Given the description of an element on the screen output the (x, y) to click on. 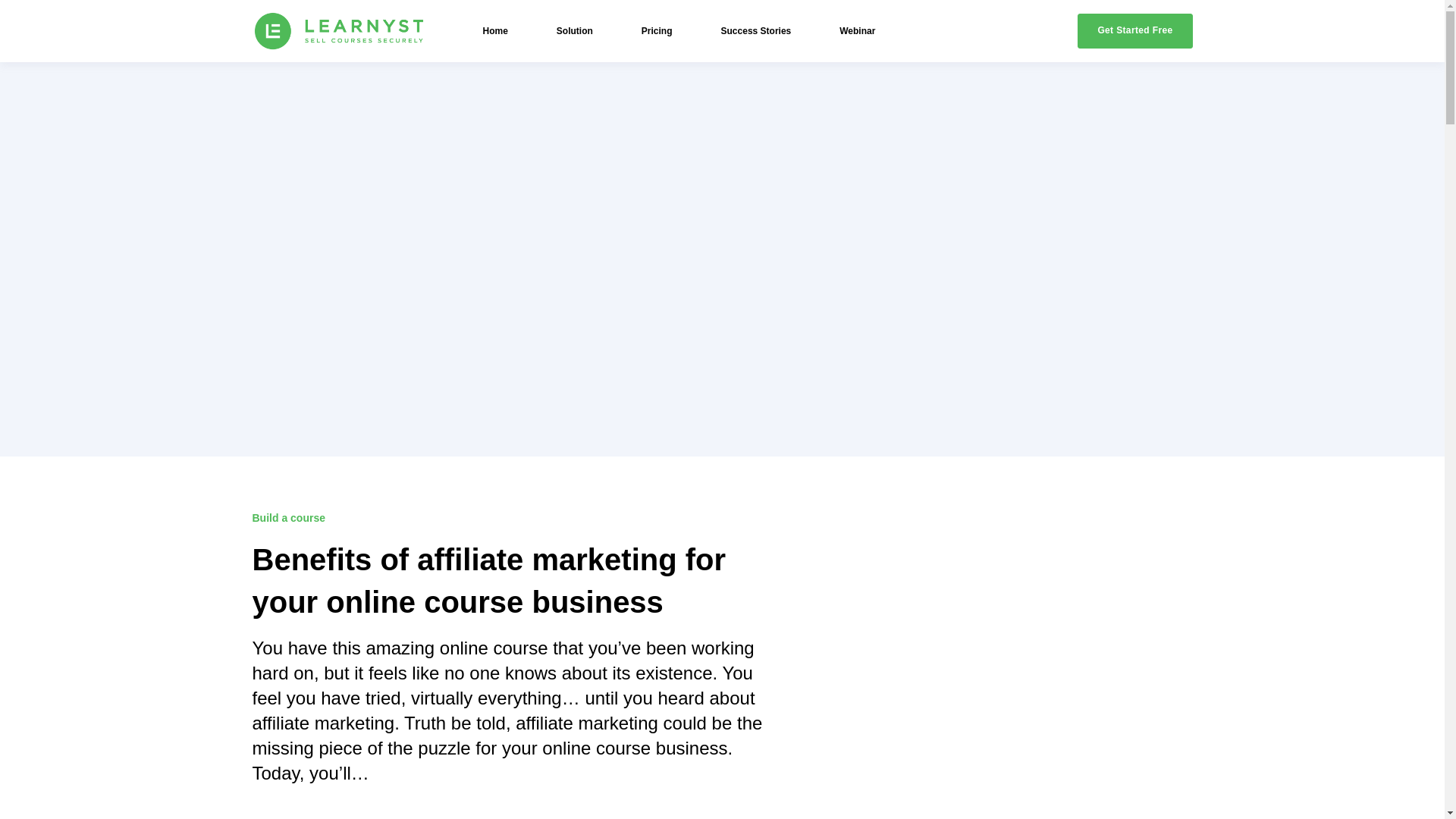
Pricing (657, 30)
Get Started Free (1134, 30)
Webinar (857, 30)
Solution (574, 30)
Success Stories (756, 30)
Vaishak (272, 818)
